Given the description of an element on the screen output the (x, y) to click on. 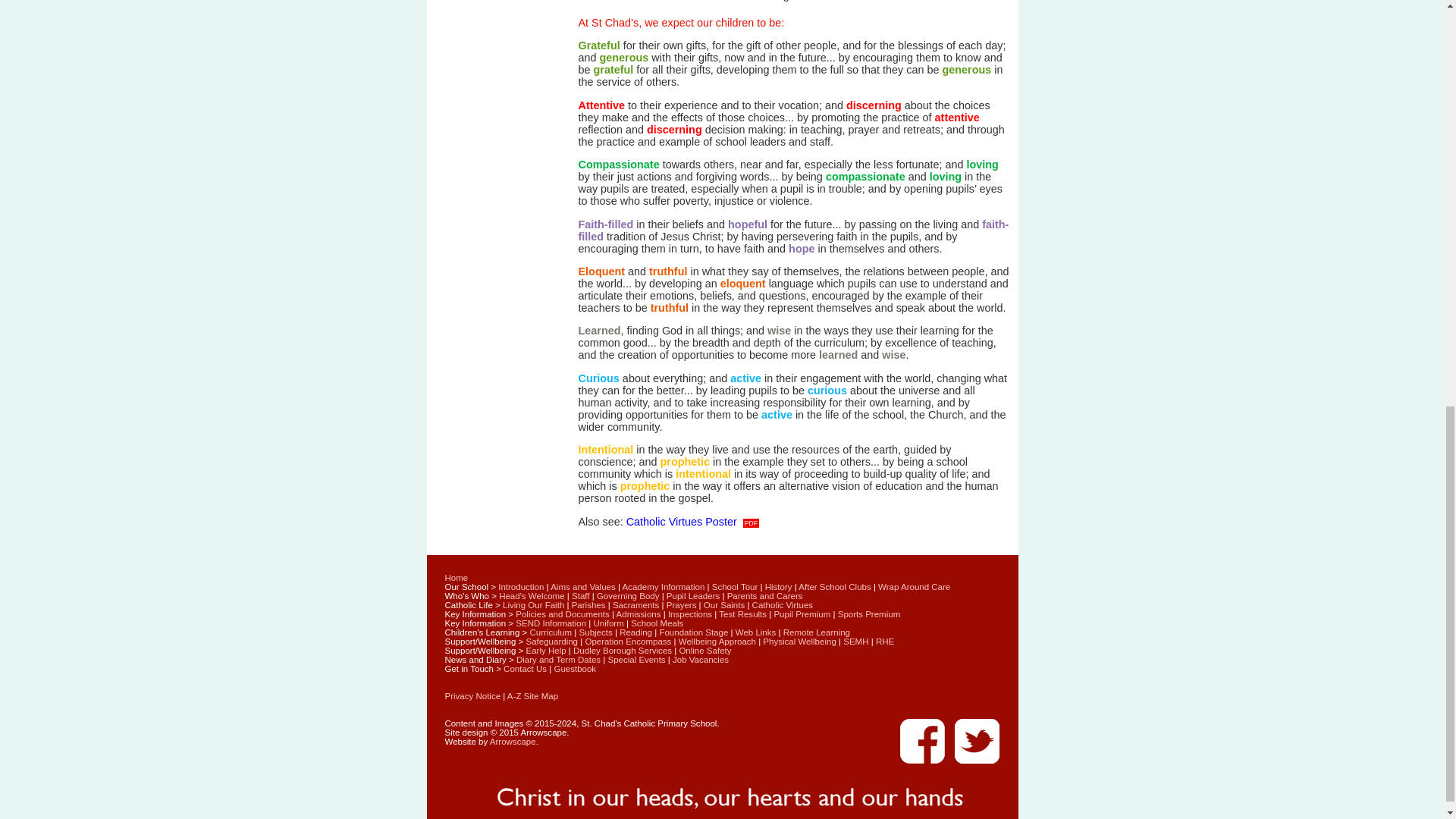
Catholic Virtues Poster (692, 521)
